Given the description of an element on the screen output the (x, y) to click on. 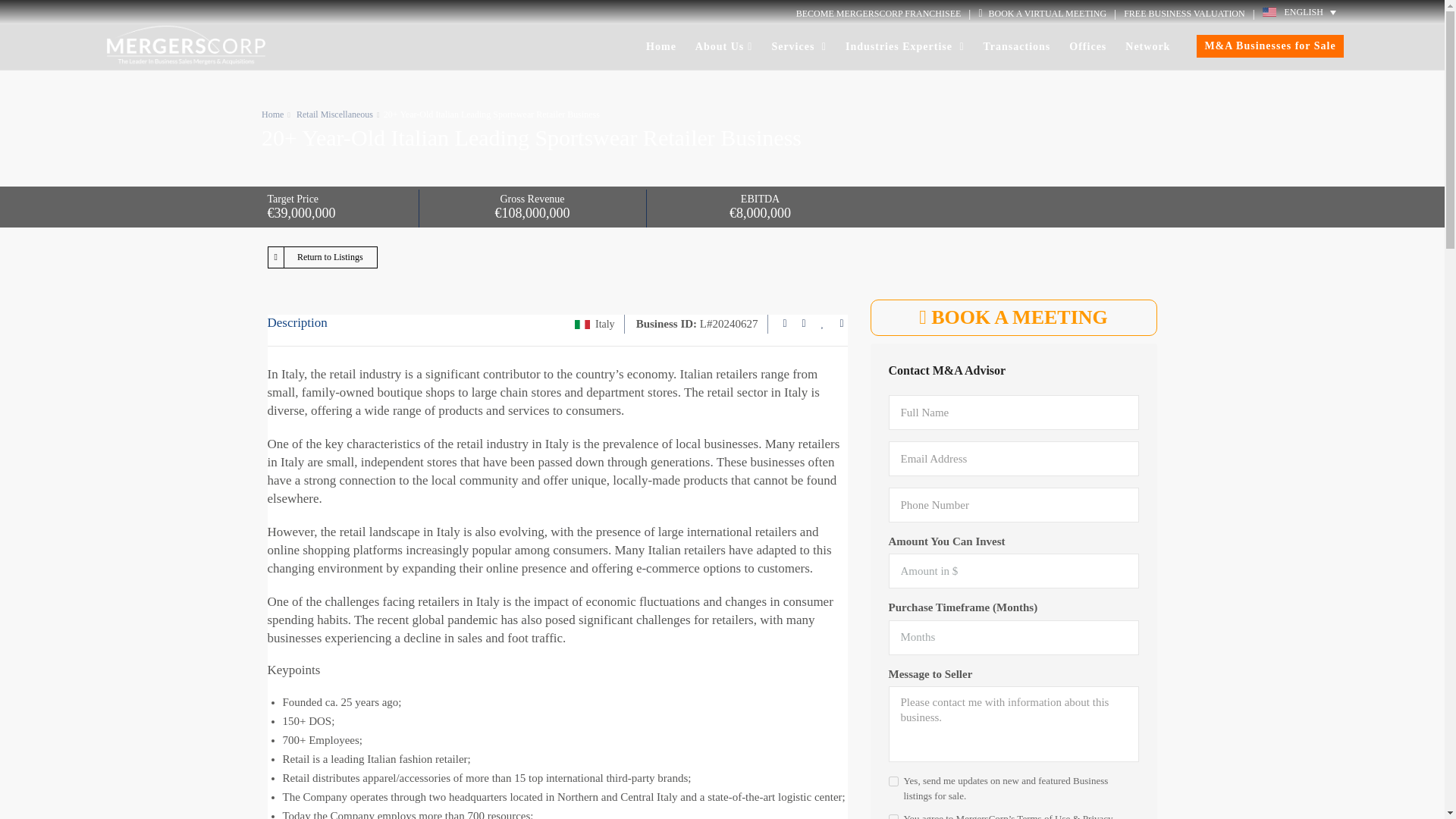
FREE BUSINESS VALUATION (1184, 13)
BOOK A VIRTUAL MEETING (1042, 13)
ENGLISH (1302, 11)
BECOME MERGERSCORP FRANCHISEE (878, 13)
About Us (723, 46)
